Given the description of an element on the screen output the (x, y) to click on. 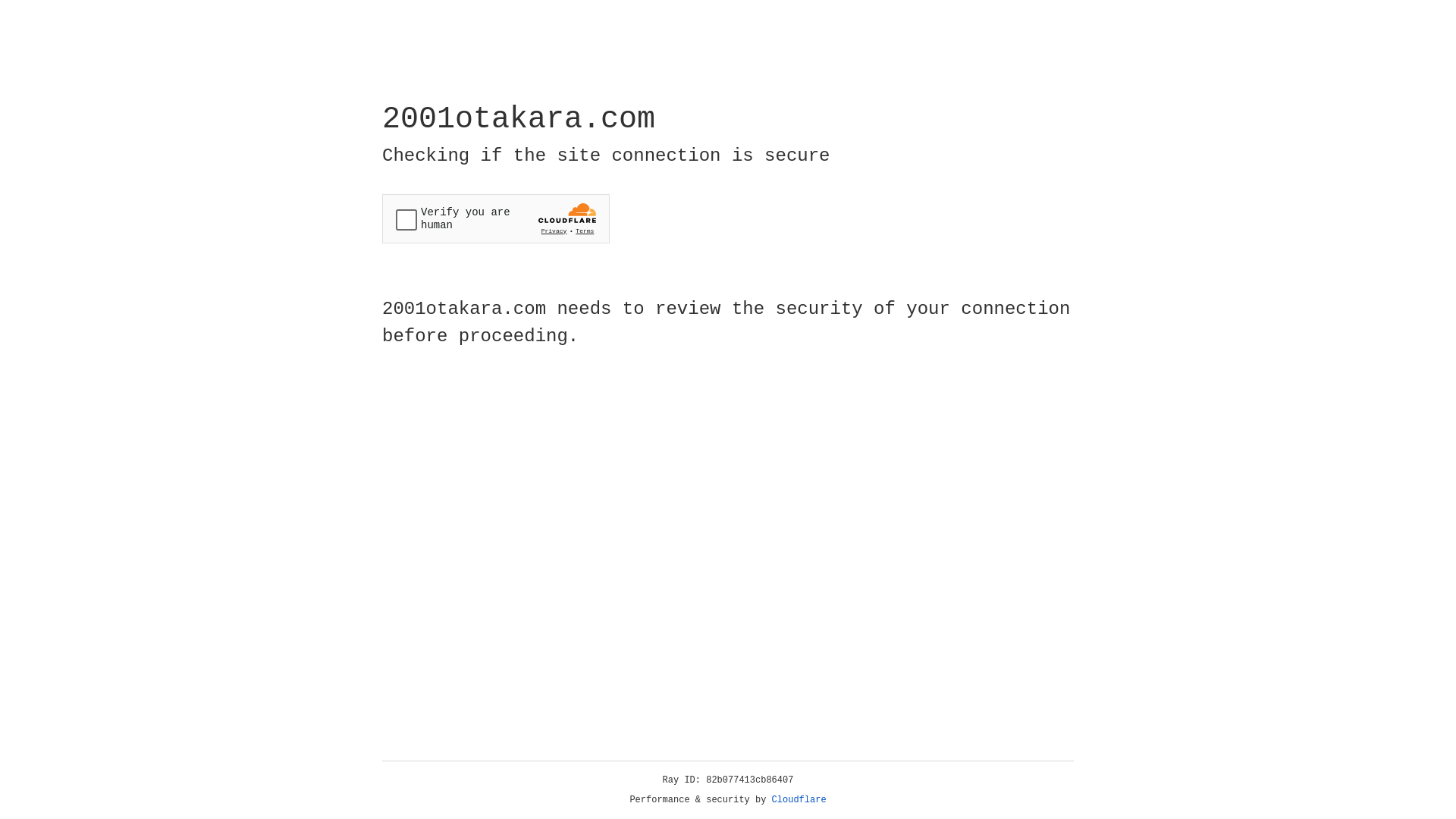
Cloudflare Element type: text (798, 799)
Widget containing a Cloudflare security challenge Element type: hover (495, 218)
